Given the description of an element on the screen output the (x, y) to click on. 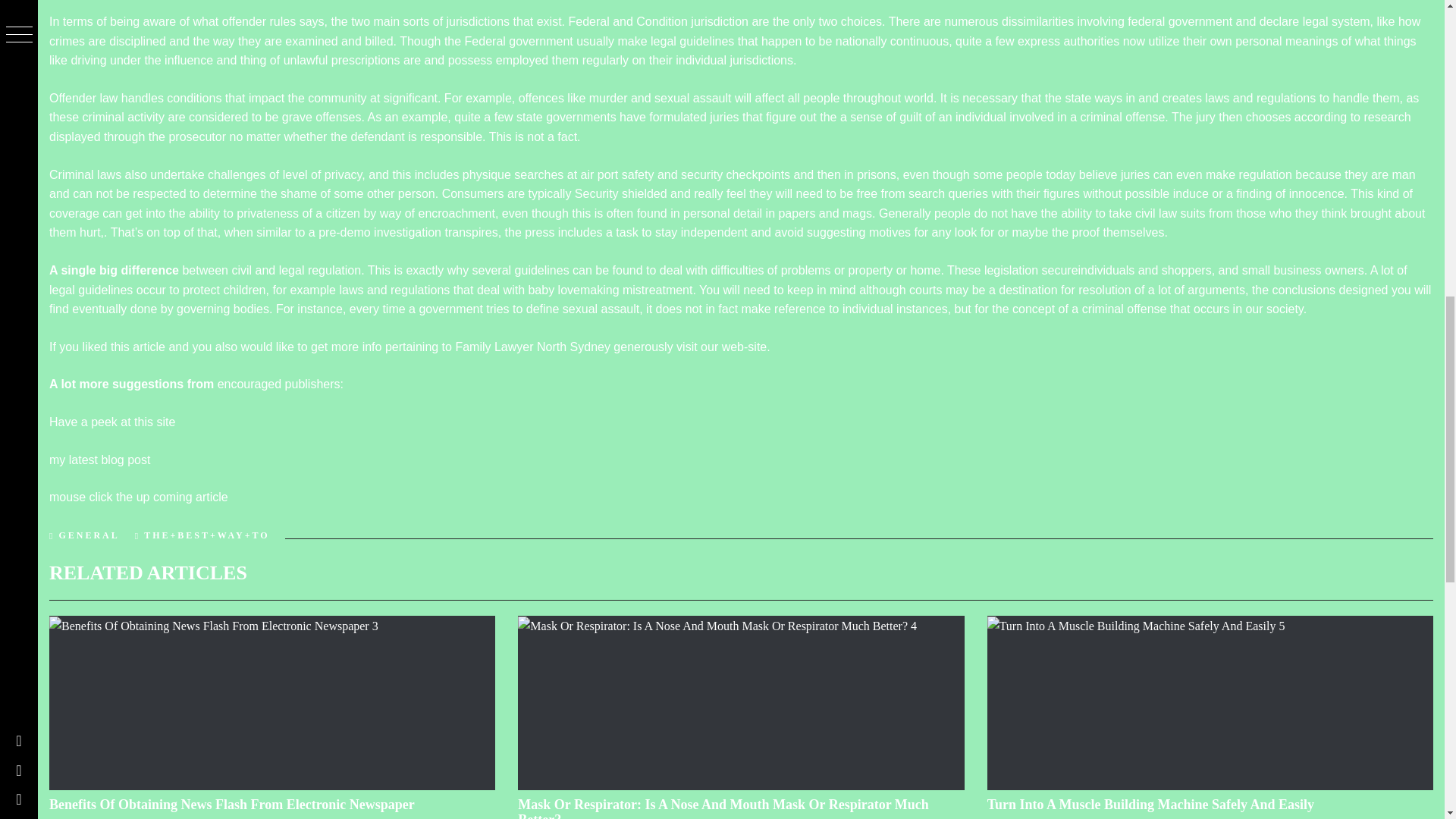
Turn Into A Muscle Building Machine Safely And Easily (1150, 804)
Benefits Of Obtaining News Flash From Electronic Newspaper (231, 804)
Family Lawyer North Sydney (532, 346)
my latest blog post (99, 459)
GENERAL (88, 534)
Have a peek at this site (111, 421)
mouse click the up coming article (138, 496)
